Given the description of an element on the screen output the (x, y) to click on. 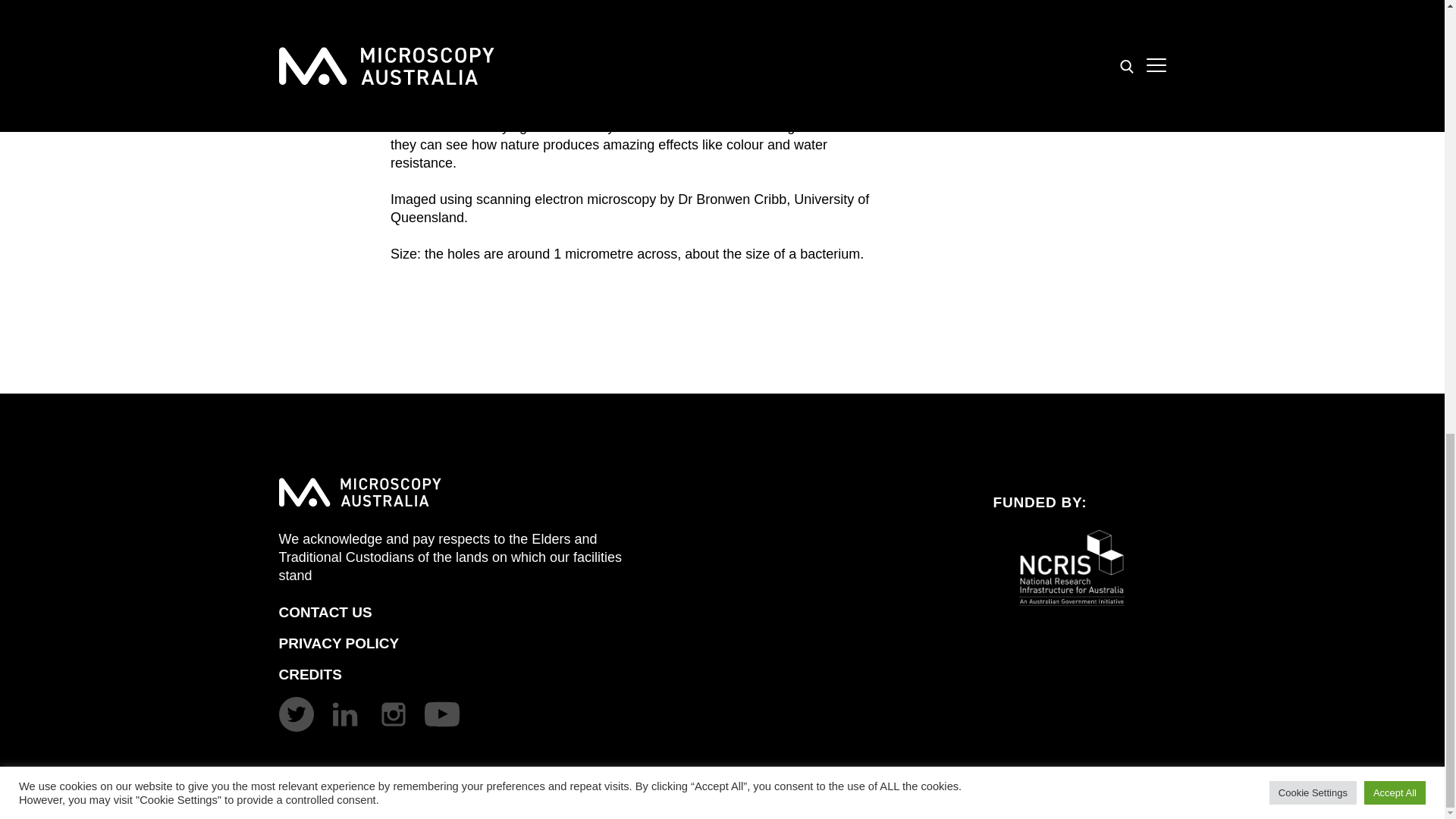
Go to Microscopy Australia homepage (360, 491)
